Given the description of an element on the screen output the (x, y) to click on. 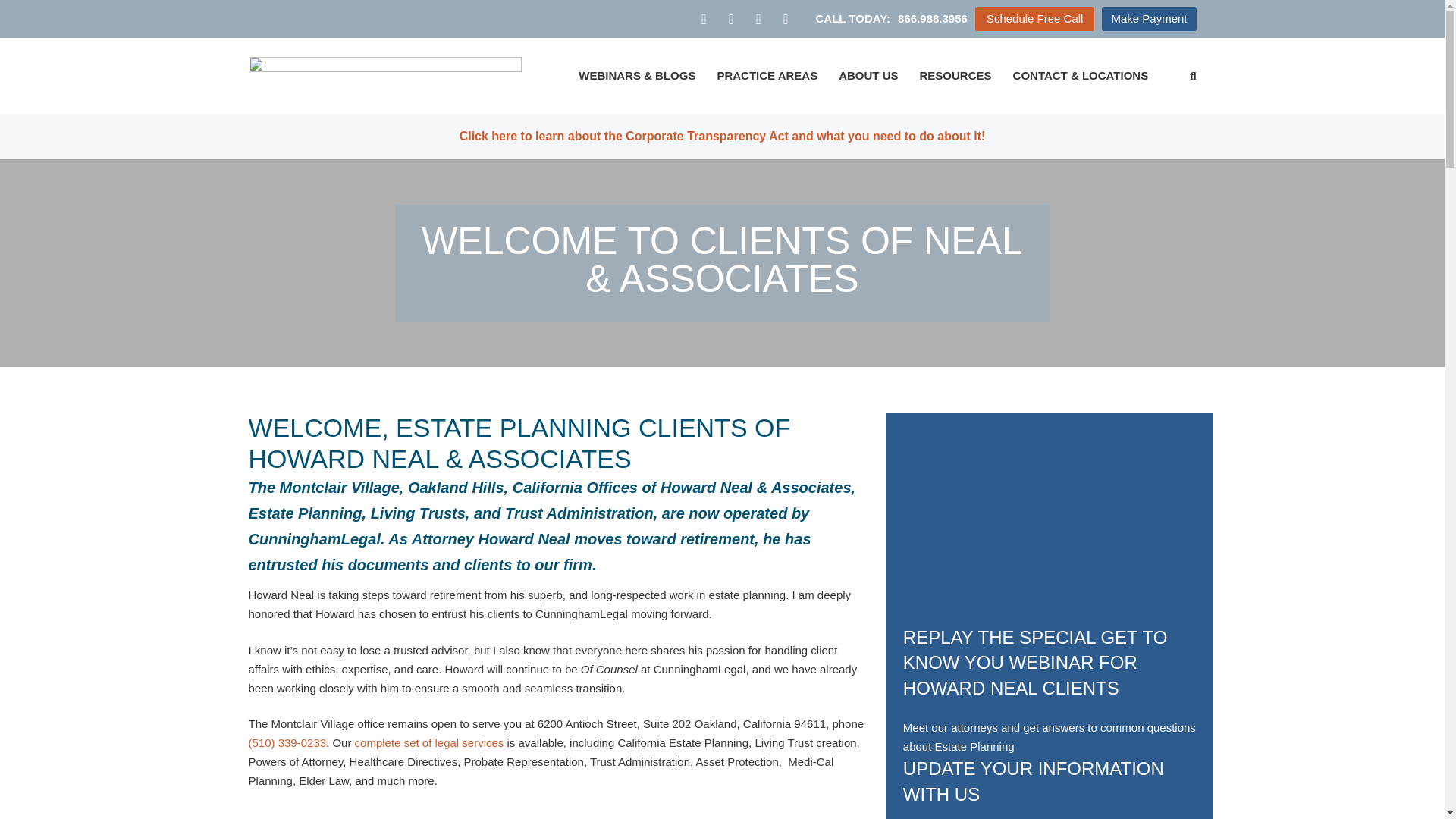
PRACTICE AREAS (767, 75)
YouTube (785, 18)
LinkedIn (757, 18)
Make Payment (1148, 18)
ABOUT US (868, 75)
Twitter (730, 18)
Schedule Free Call (1034, 18)
866.988.3956 (933, 18)
Facebook (703, 18)
